Given the description of an element on the screen output the (x, y) to click on. 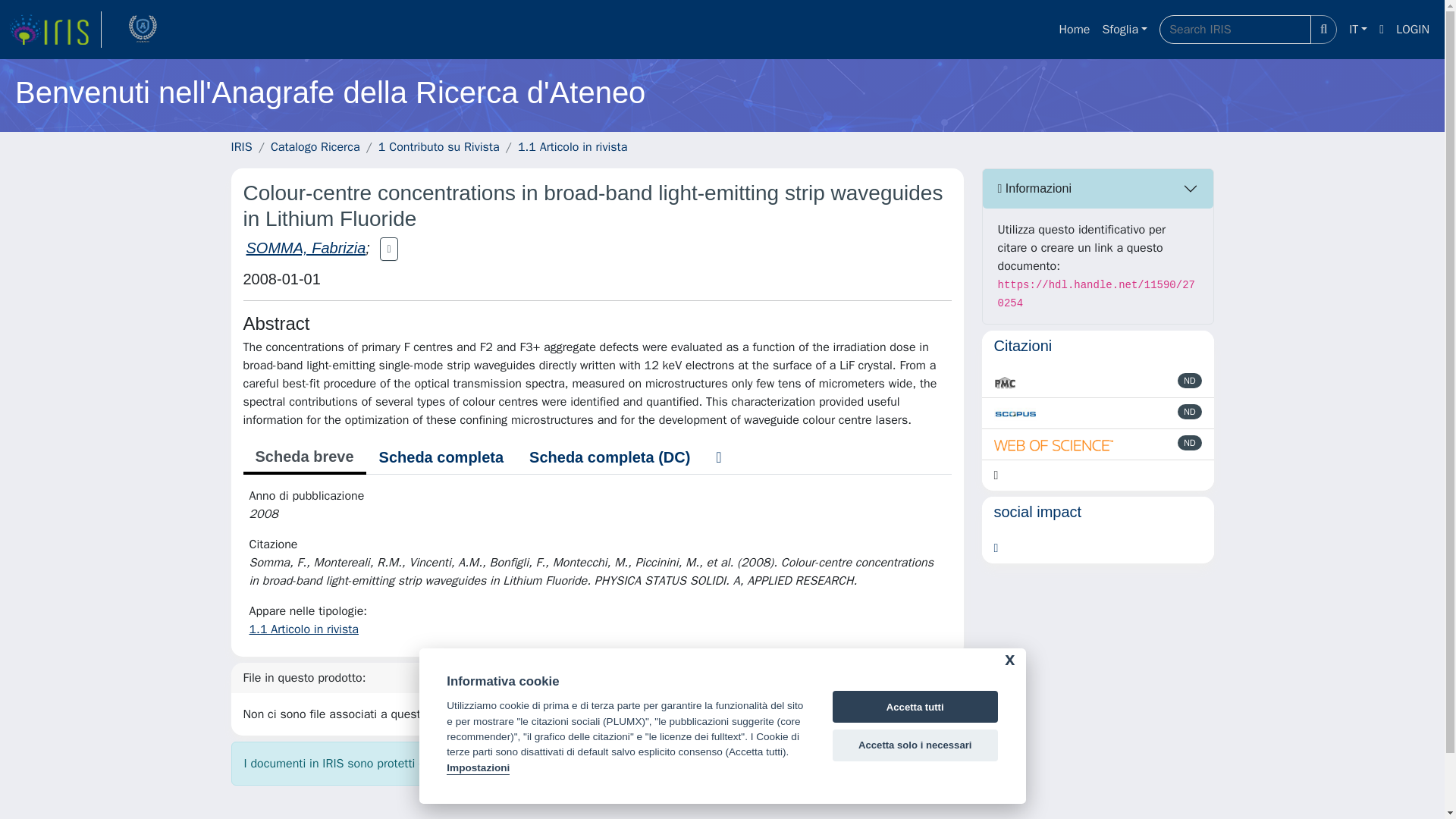
SOMMA, Fabrizia (305, 247)
1 Contributo su Rivista (438, 146)
Sfoglia (1124, 29)
1.1 Articolo in rivista (303, 629)
LOGIN (1412, 29)
Scheda breve (304, 458)
1.1 Articolo in rivista (572, 146)
 Informazioni (1097, 188)
Scheda completa (441, 457)
IRIS (240, 146)
Catalogo Ricerca (314, 146)
Home (1074, 29)
IT (1357, 29)
